Given the description of an element on the screen output the (x, y) to click on. 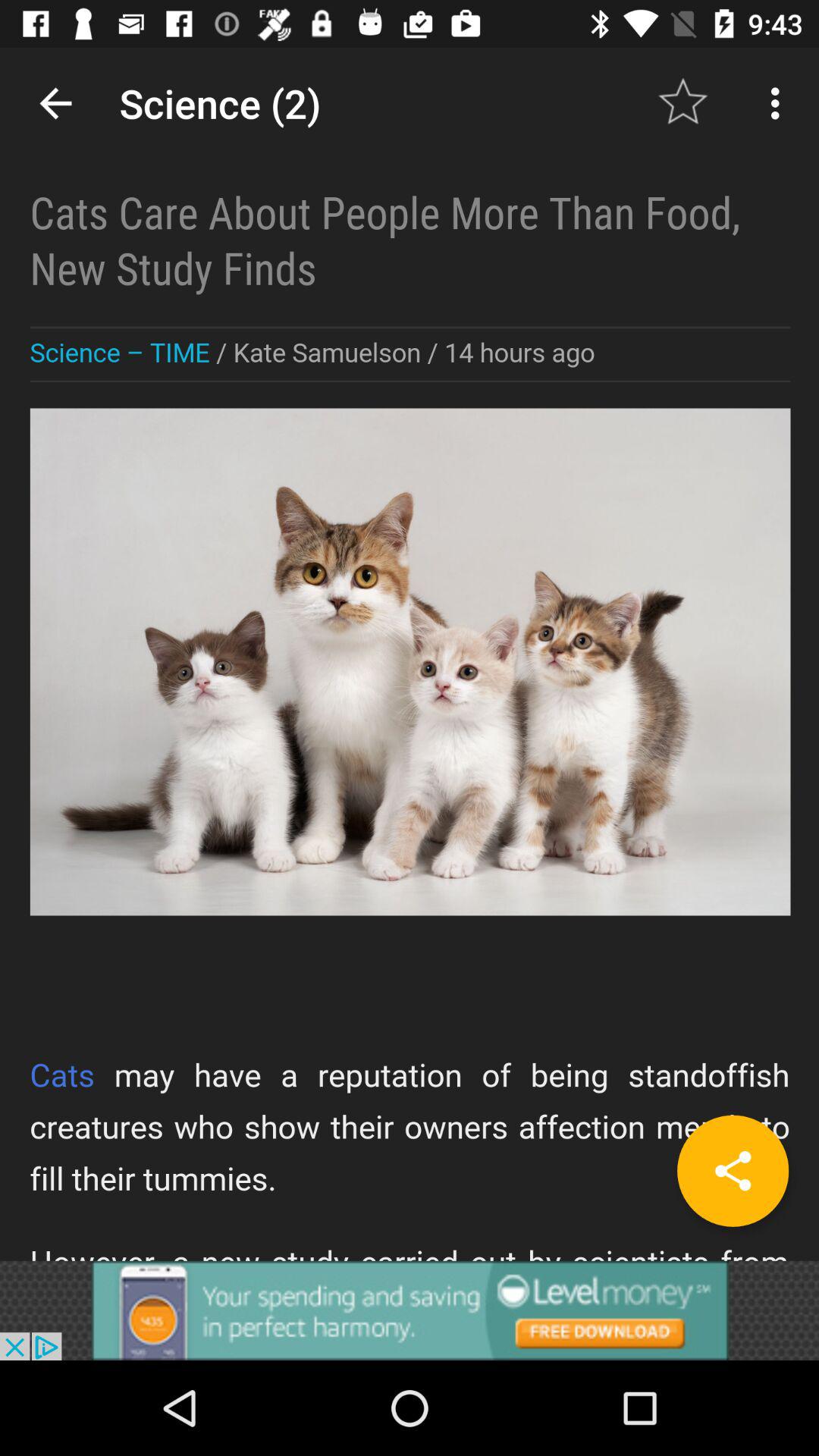
sharing information (409, 653)
